Given the description of an element on the screen output the (x, y) to click on. 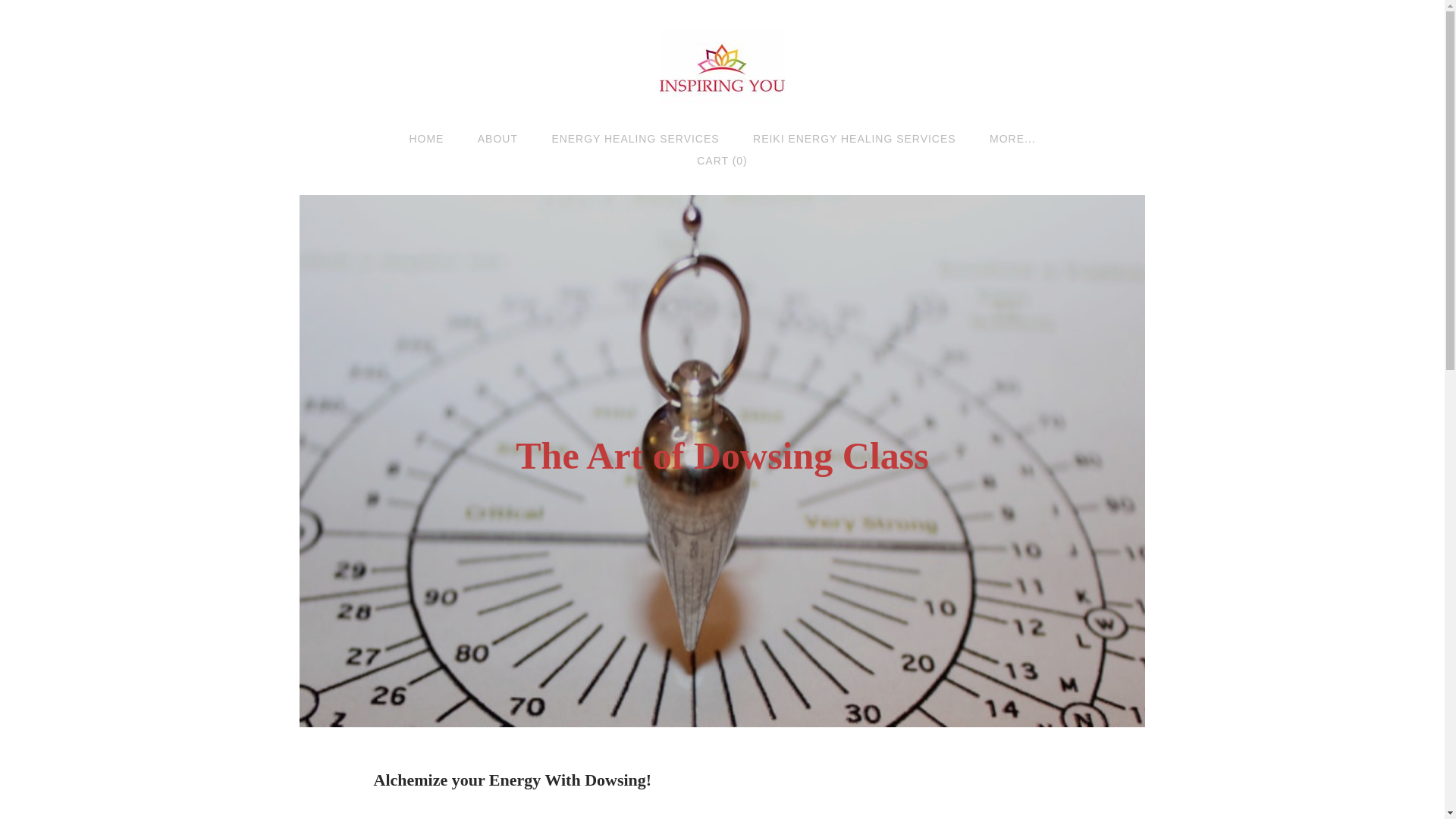
HOME (425, 138)
ABOUT (497, 138)
MORE... (1012, 138)
REIKI ENERGY HEALING SERVICES (854, 138)
ENERGY HEALING SERVICES (635, 138)
